Given the description of an element on the screen output the (x, y) to click on. 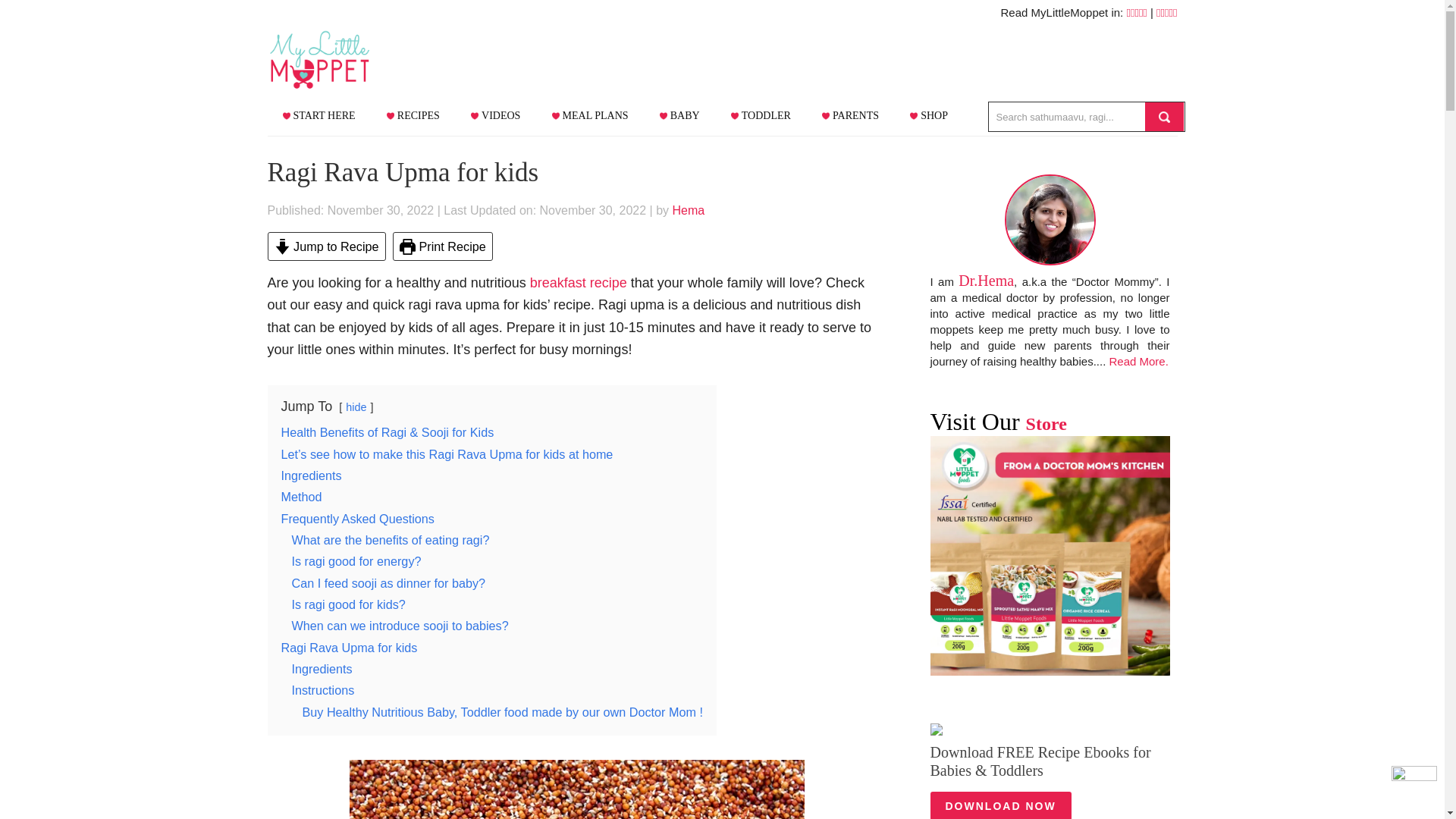
MEAL PLANS (597, 115)
BABY (687, 115)
Search (1164, 116)
VIDEOS (503, 115)
My Little Moppet (342, 59)
Search (1164, 116)
TODDLER (768, 115)
START HERE (326, 115)
RECIPES (420, 115)
